Given the description of an element on the screen output the (x, y) to click on. 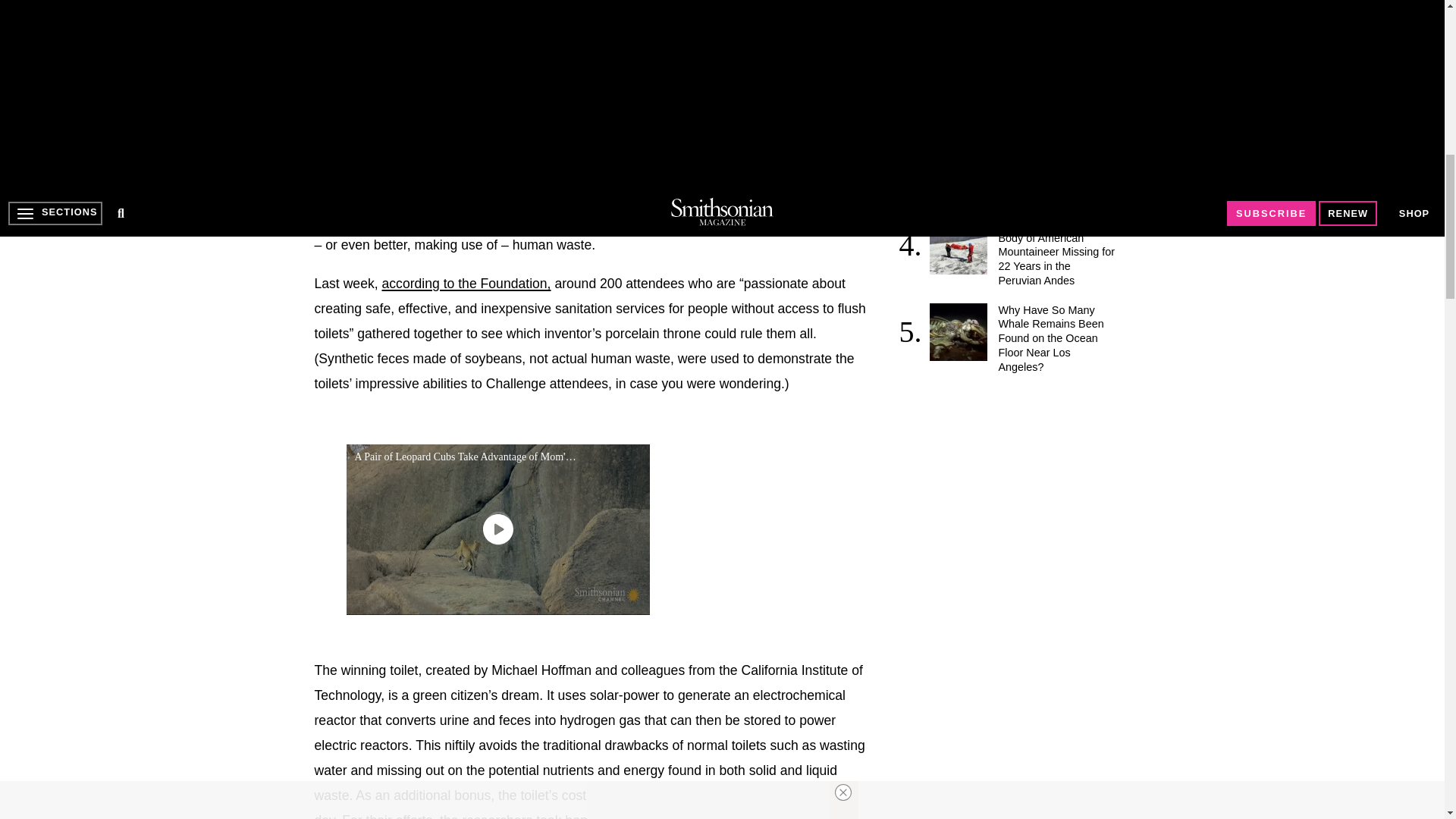
Facebook (325, 125)
Twitter (357, 125)
Reddit (418, 125)
Print (511, 125)
3rd party ad content (1015, 487)
LinkedIn (387, 125)
Email (542, 125)
Pocket (480, 125)
WhatsApp (450, 125)
